Given the description of an element on the screen output the (x, y) to click on. 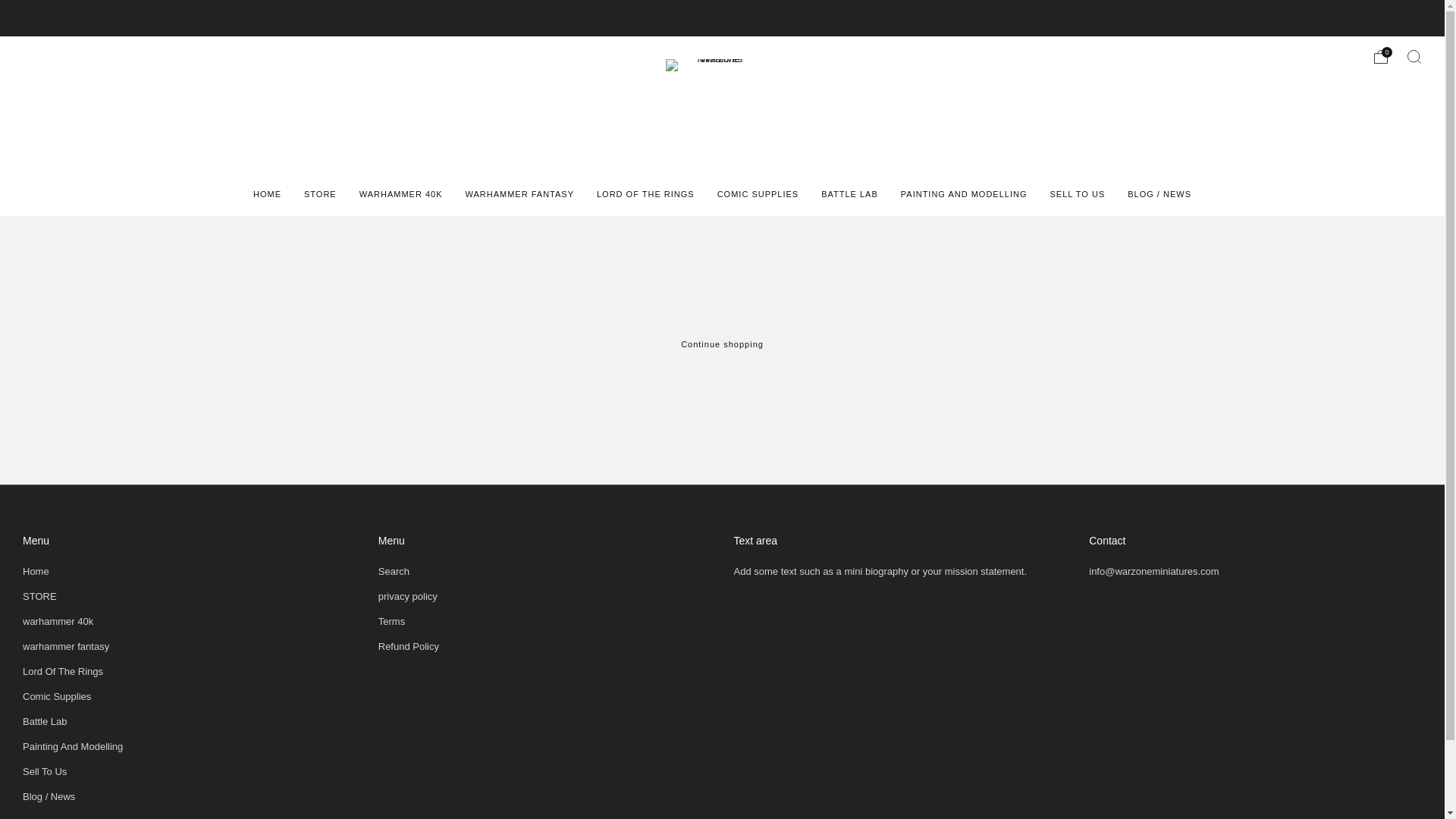
WARHAMMER 40K (400, 193)
HOME (267, 193)
STORE (320, 193)
WARHAMMER FANTASY (518, 193)
